Given the description of an element on the screen output the (x, y) to click on. 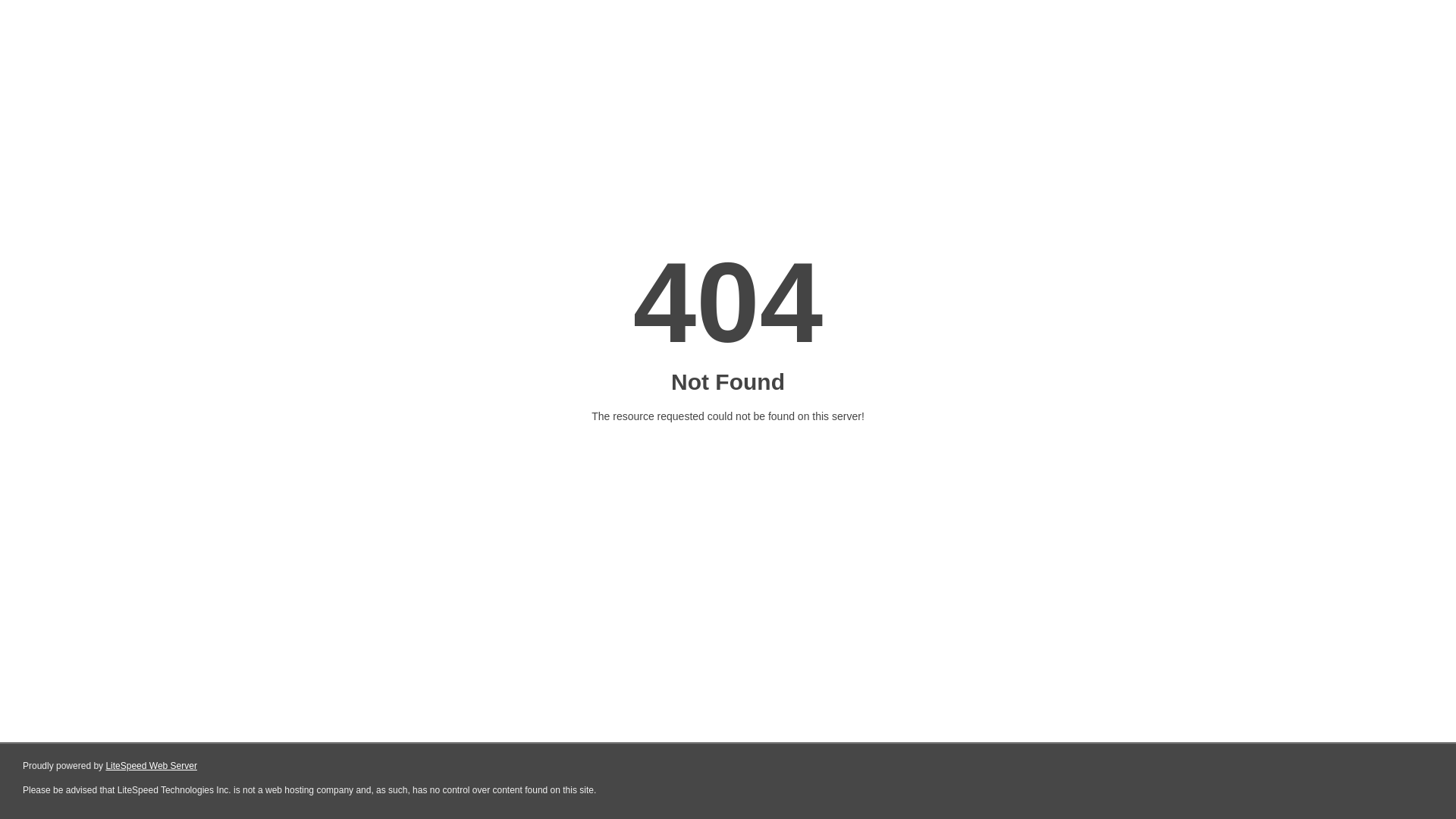
LiteSpeed Web Server Element type: text (151, 765)
